Given the description of an element on the screen output the (x, y) to click on. 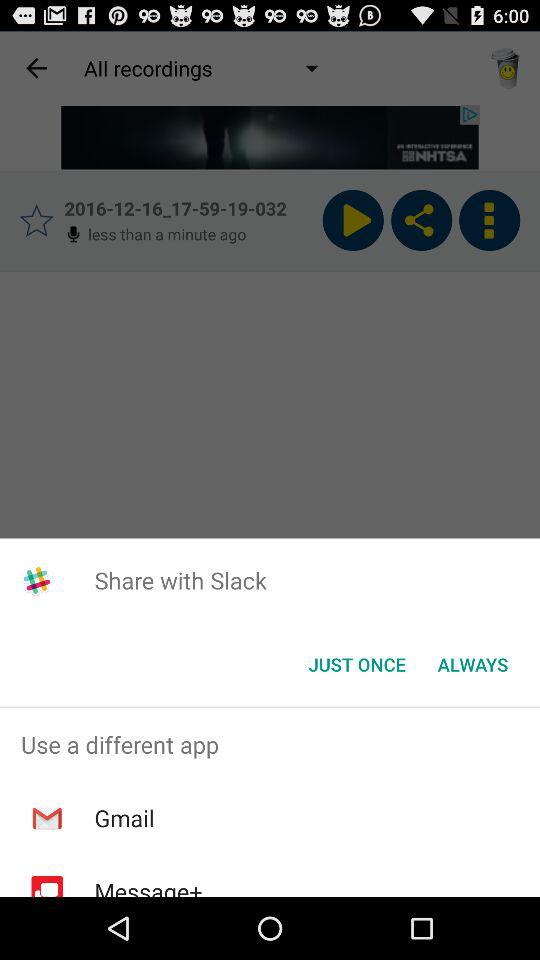
scroll to the gmail icon (124, 817)
